Given the description of an element on the screen output the (x, y) to click on. 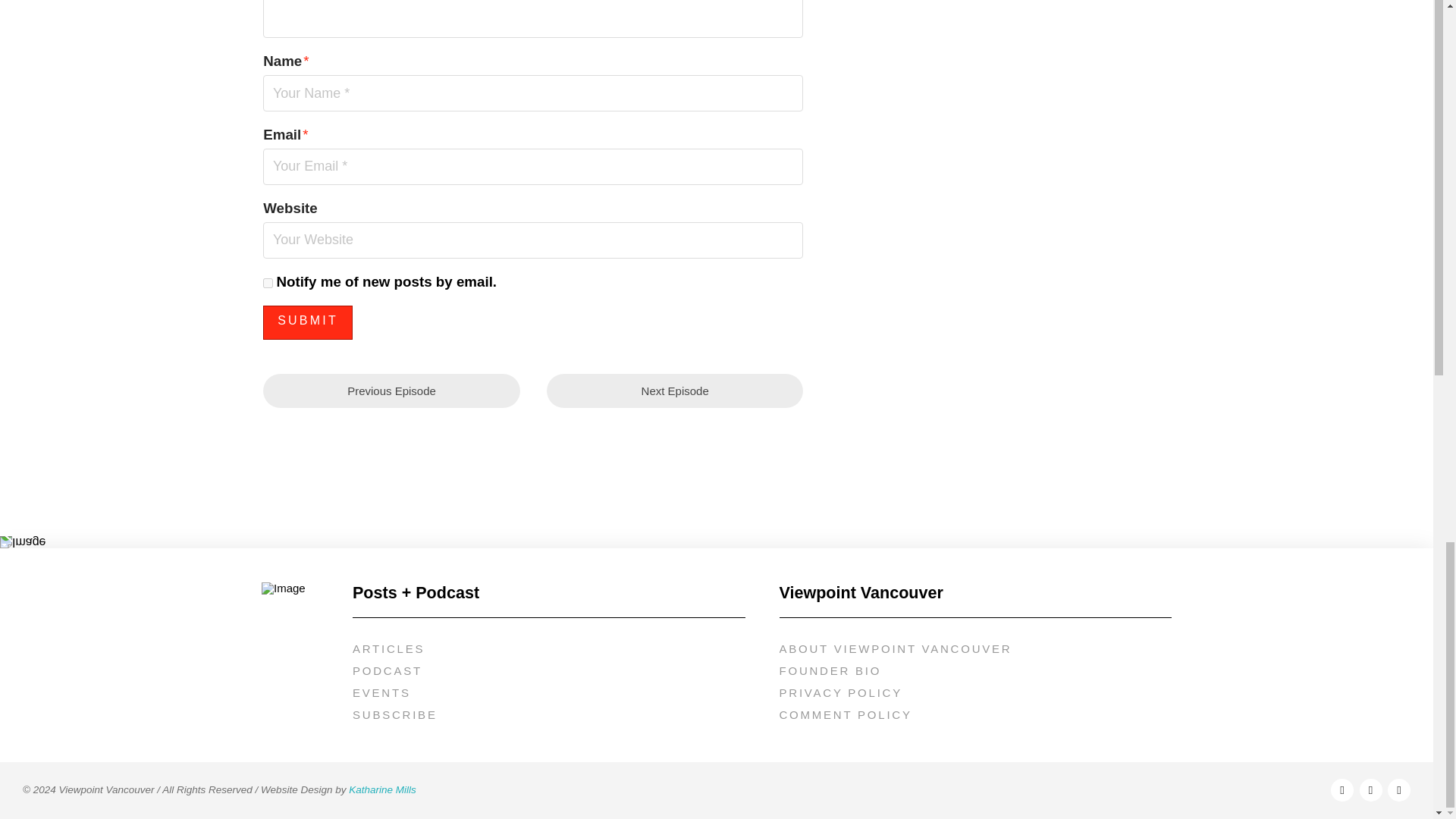
subscribe (268, 283)
